Given the description of an element on the screen output the (x, y) to click on. 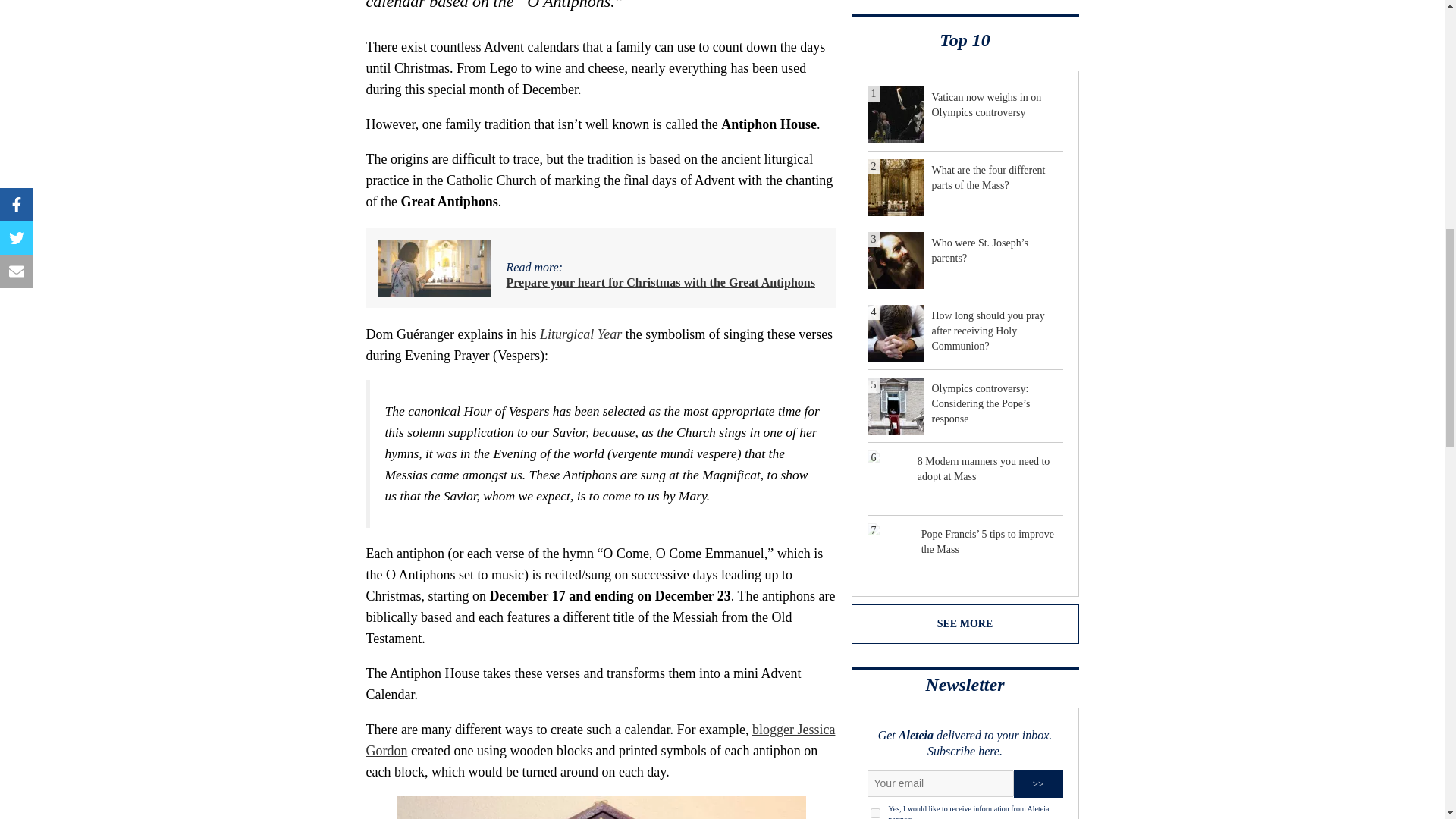
Liturgical Year (580, 334)
Prepare your heart for Christmas with the Great Antiphons (660, 282)
1 (875, 813)
